Given the description of an element on the screen output the (x, y) to click on. 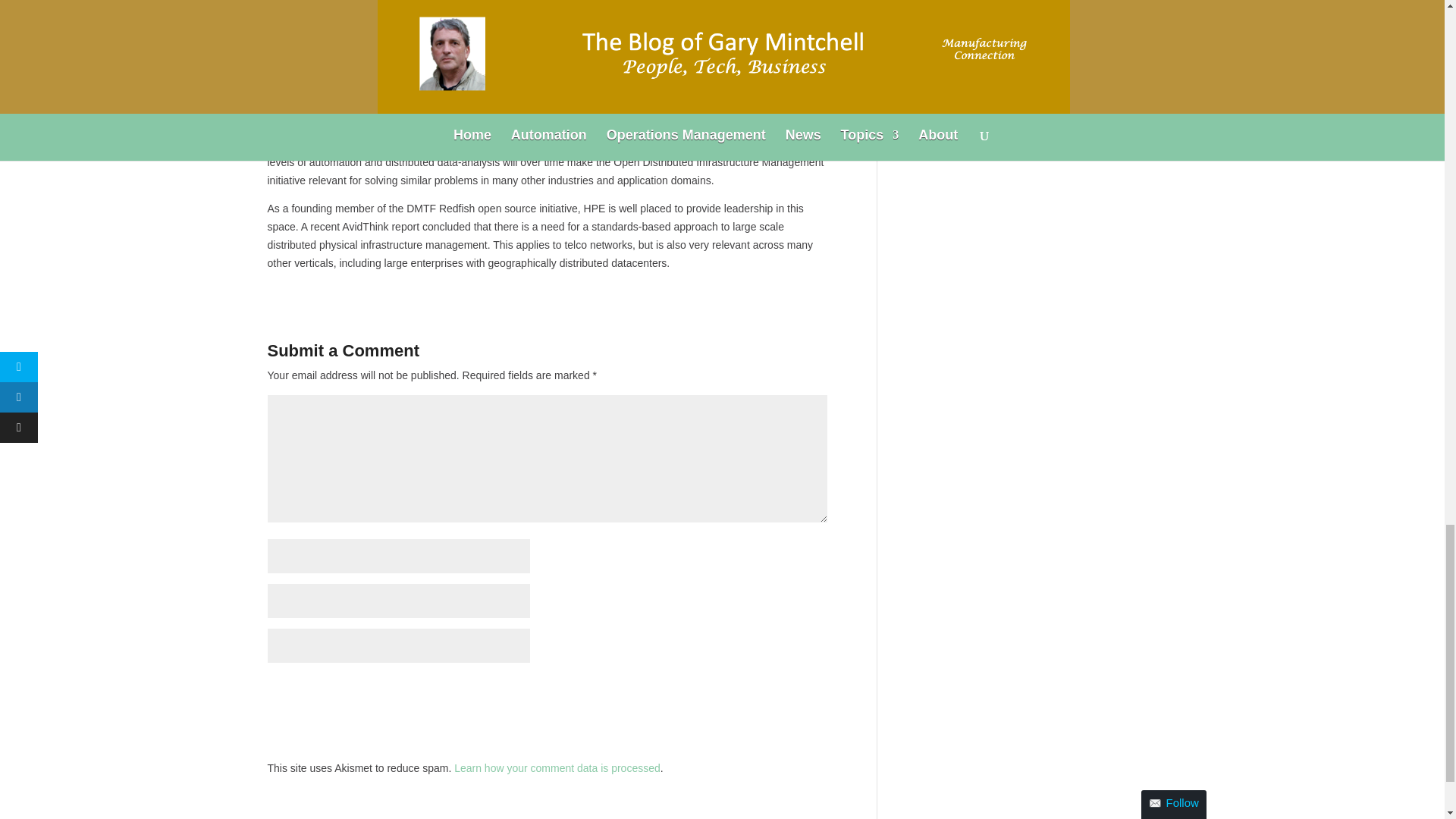
Submit Comment (752, 692)
Submit Comment (752, 692)
Learn how your comment data is processed (557, 767)
